Given the description of an element on the screen output the (x, y) to click on. 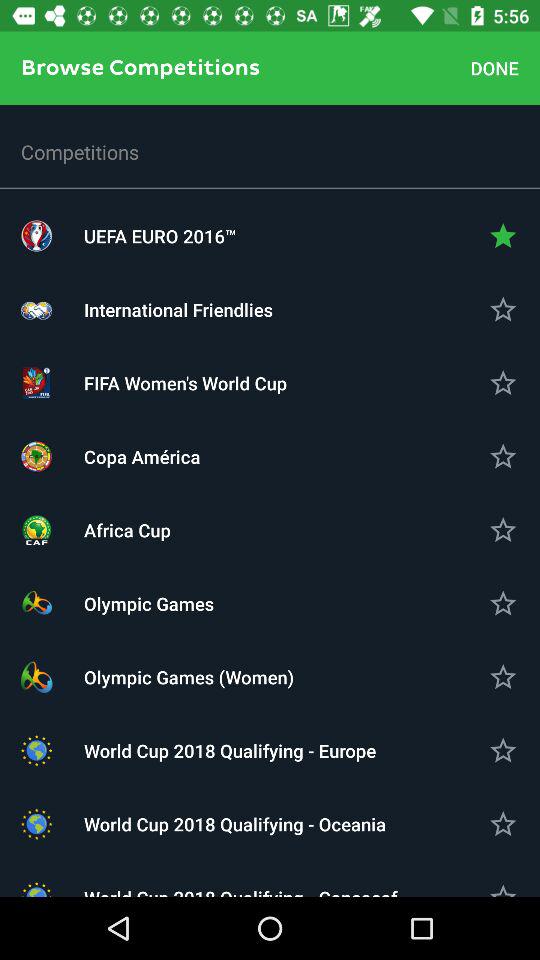
jump to international friendlies item (270, 309)
